Given the description of an element on the screen output the (x, y) to click on. 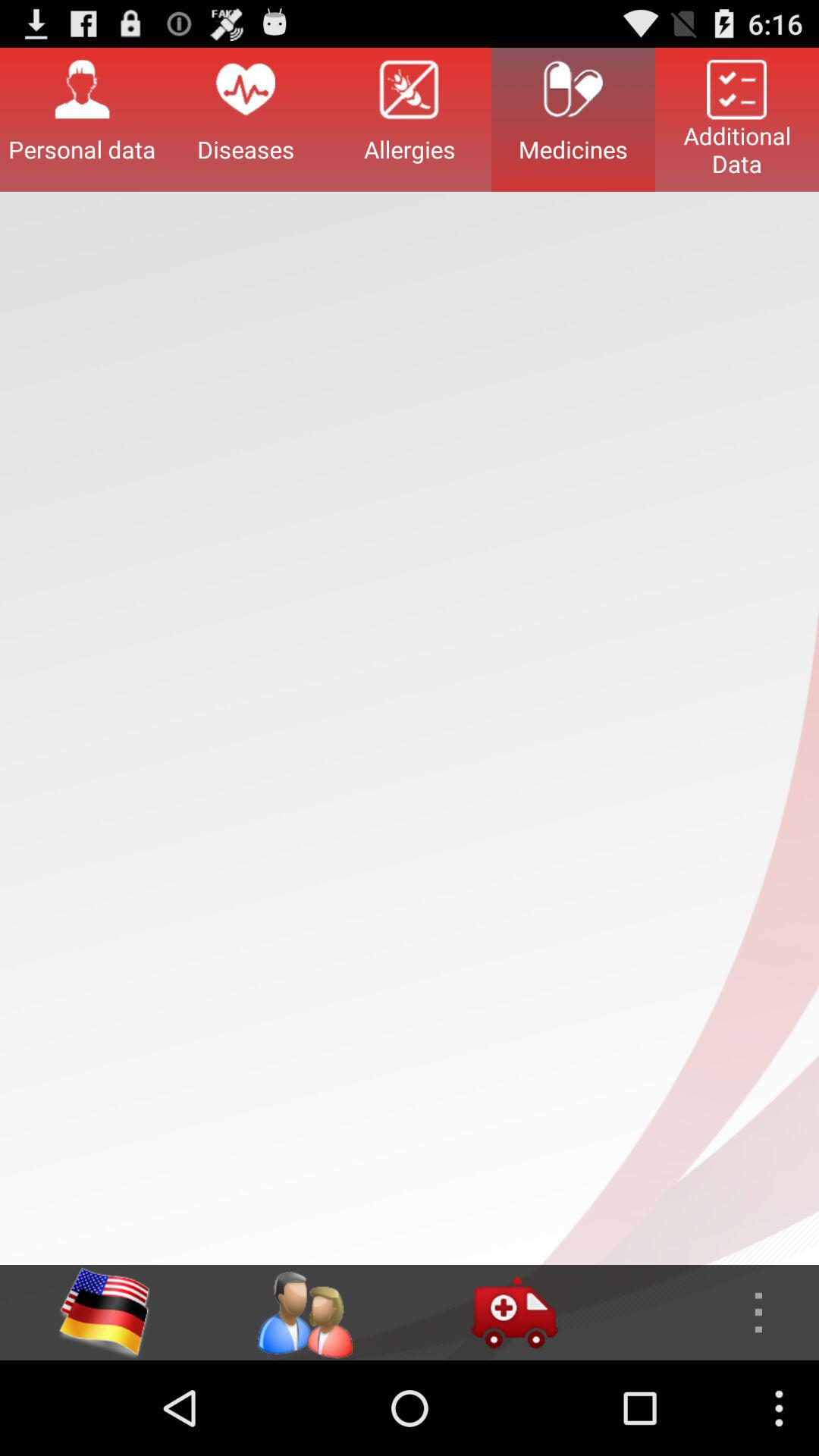
choose the icon next to medicines item (409, 119)
